Given the description of an element on the screen output the (x, y) to click on. 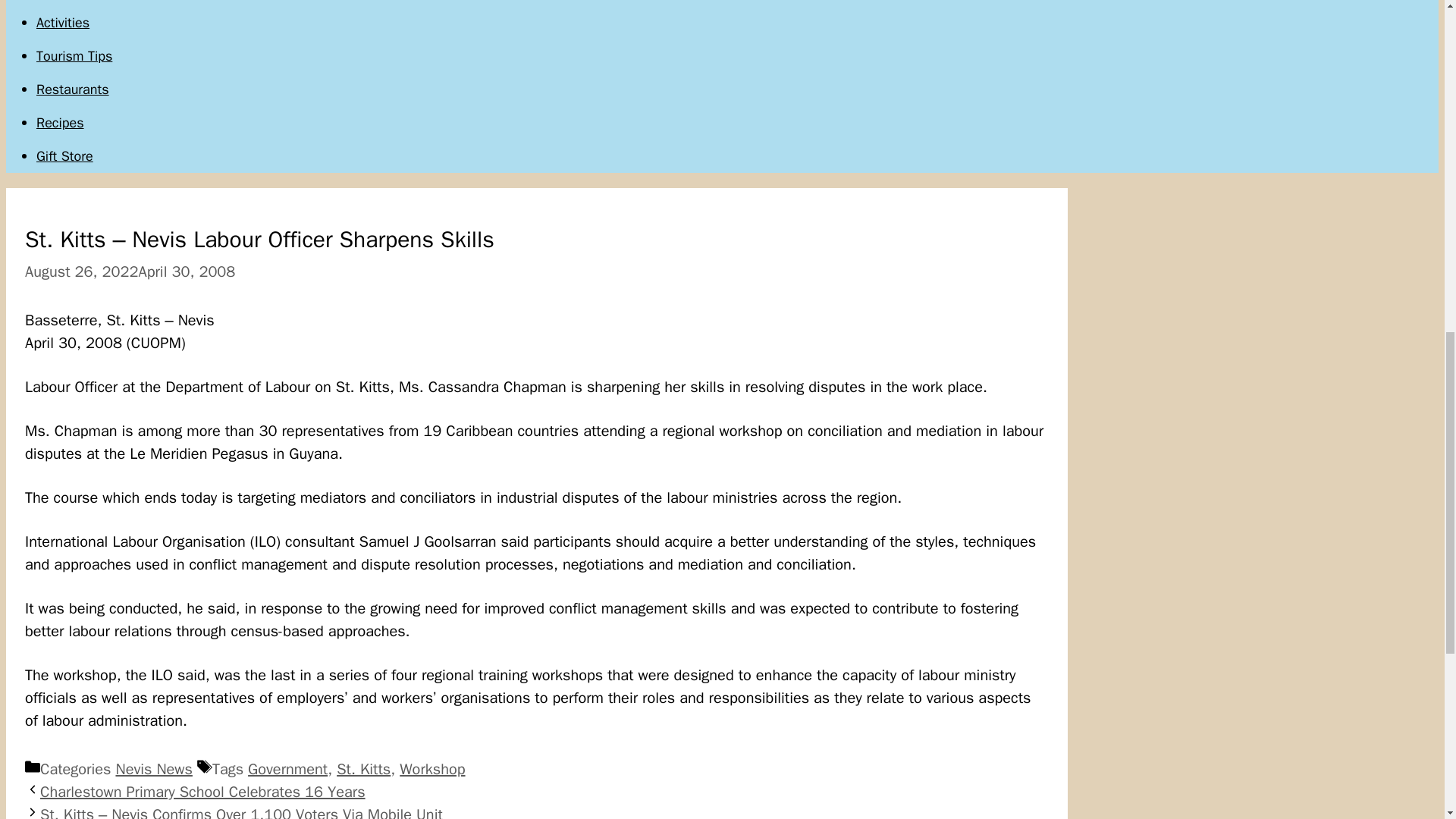
Recipes (60, 122)
St. Kitts (363, 769)
Activities (62, 22)
Gift Store (64, 156)
Charlestown Primary School Celebrates 16 Years (202, 791)
Workshop (431, 769)
Tourism Tips (74, 55)
Restaurants (72, 89)
Nevis News (153, 769)
Government (287, 769)
